Given the description of an element on the screen output the (x, y) to click on. 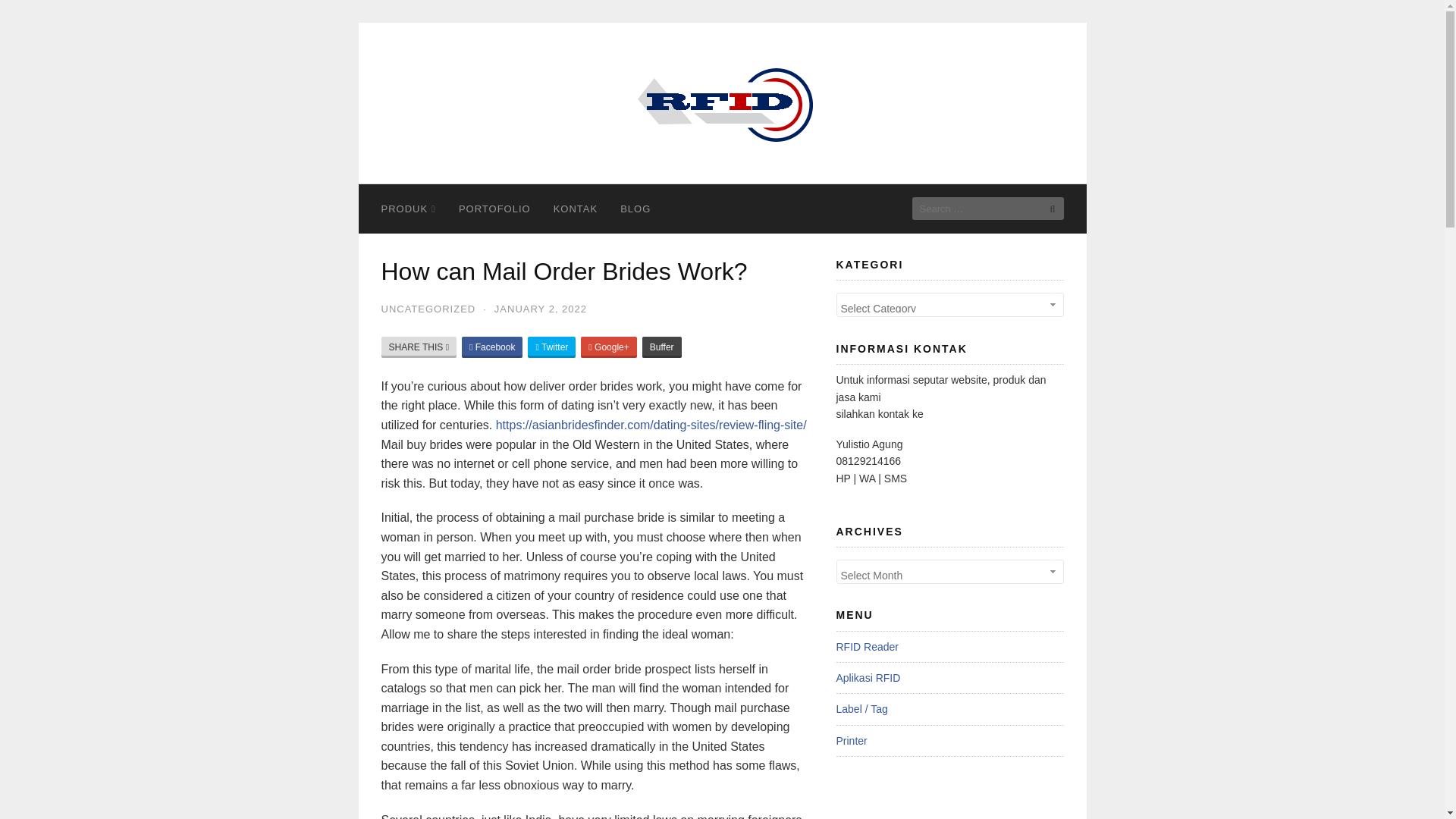
Printer (850, 740)
Facebook (491, 346)
Search (1047, 208)
RFID Reader (866, 646)
PORTOFOLIO (493, 208)
Search (1047, 208)
PRODUK (407, 208)
Twitter (551, 346)
BLOG (635, 208)
UNCATEGORIZED (428, 308)
Search (1047, 208)
Buffer (661, 346)
Aplikasi RFID (867, 677)
KONTAK (575, 208)
